Given the description of an element on the screen output the (x, y) to click on. 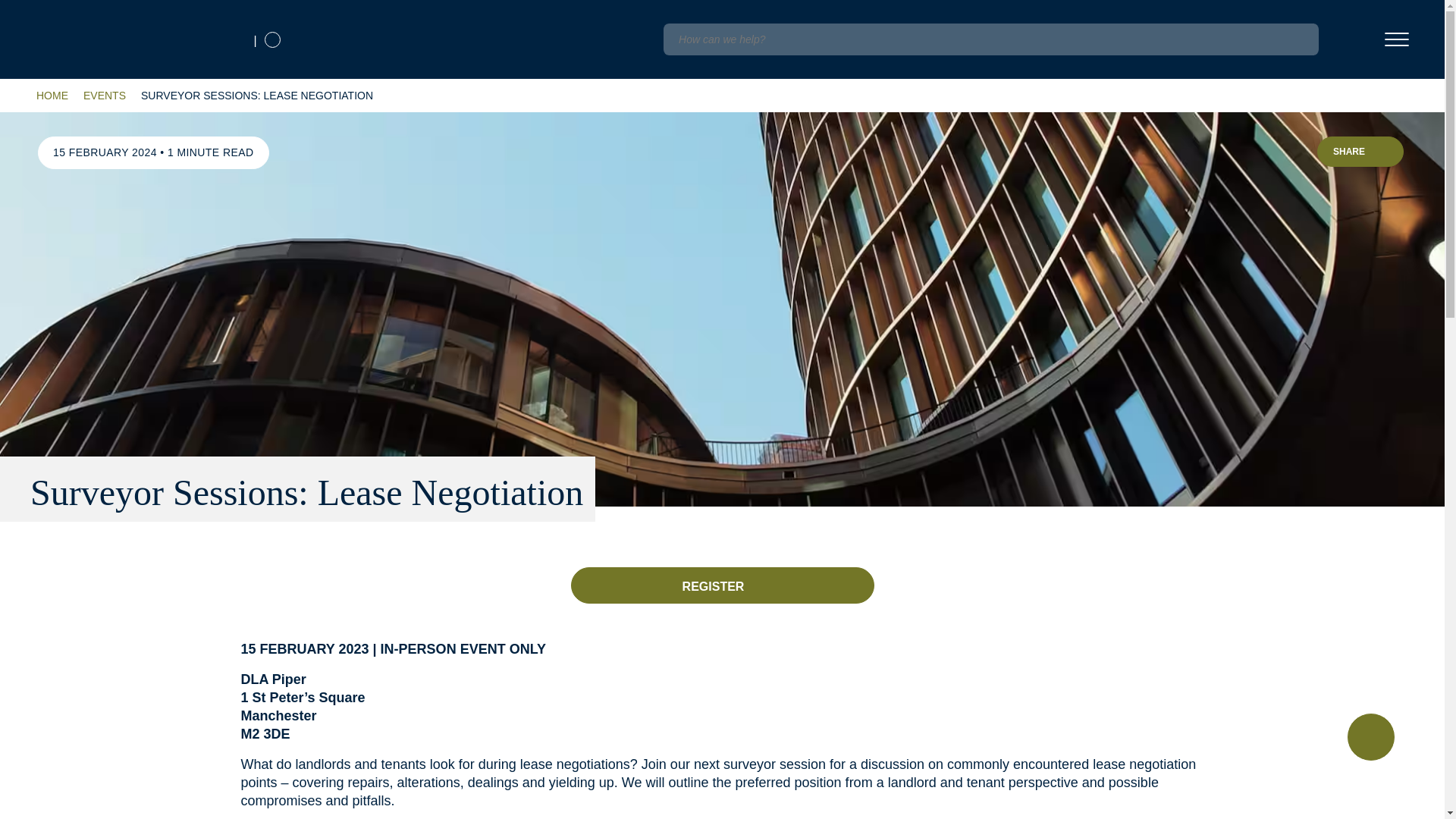
Insert a query. Press enter to send (990, 39)
EVENTS (103, 95)
HOME (52, 95)
REGISTER (721, 585)
